Given the description of an element on the screen output the (x, y) to click on. 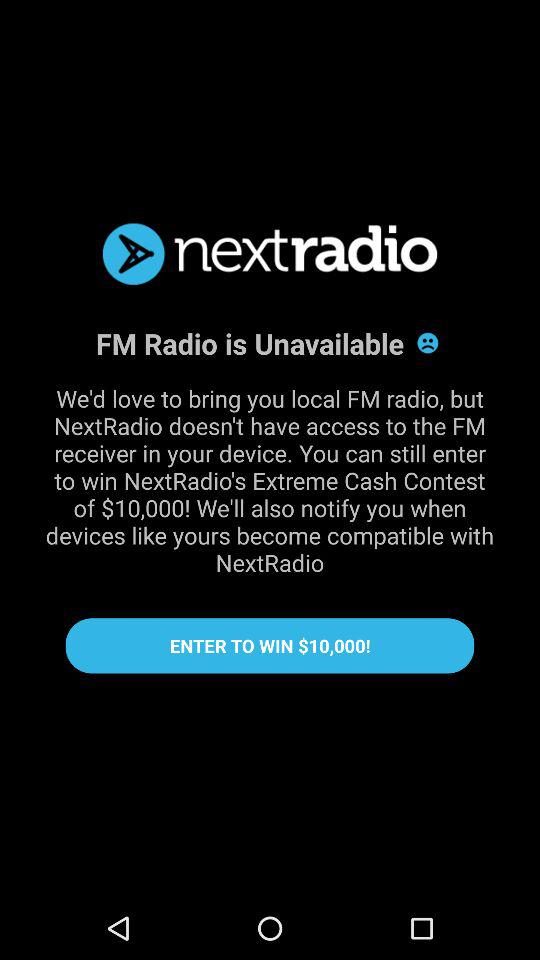
nextradio (270, 253)
